Given the description of an element on the screen output the (x, y) to click on. 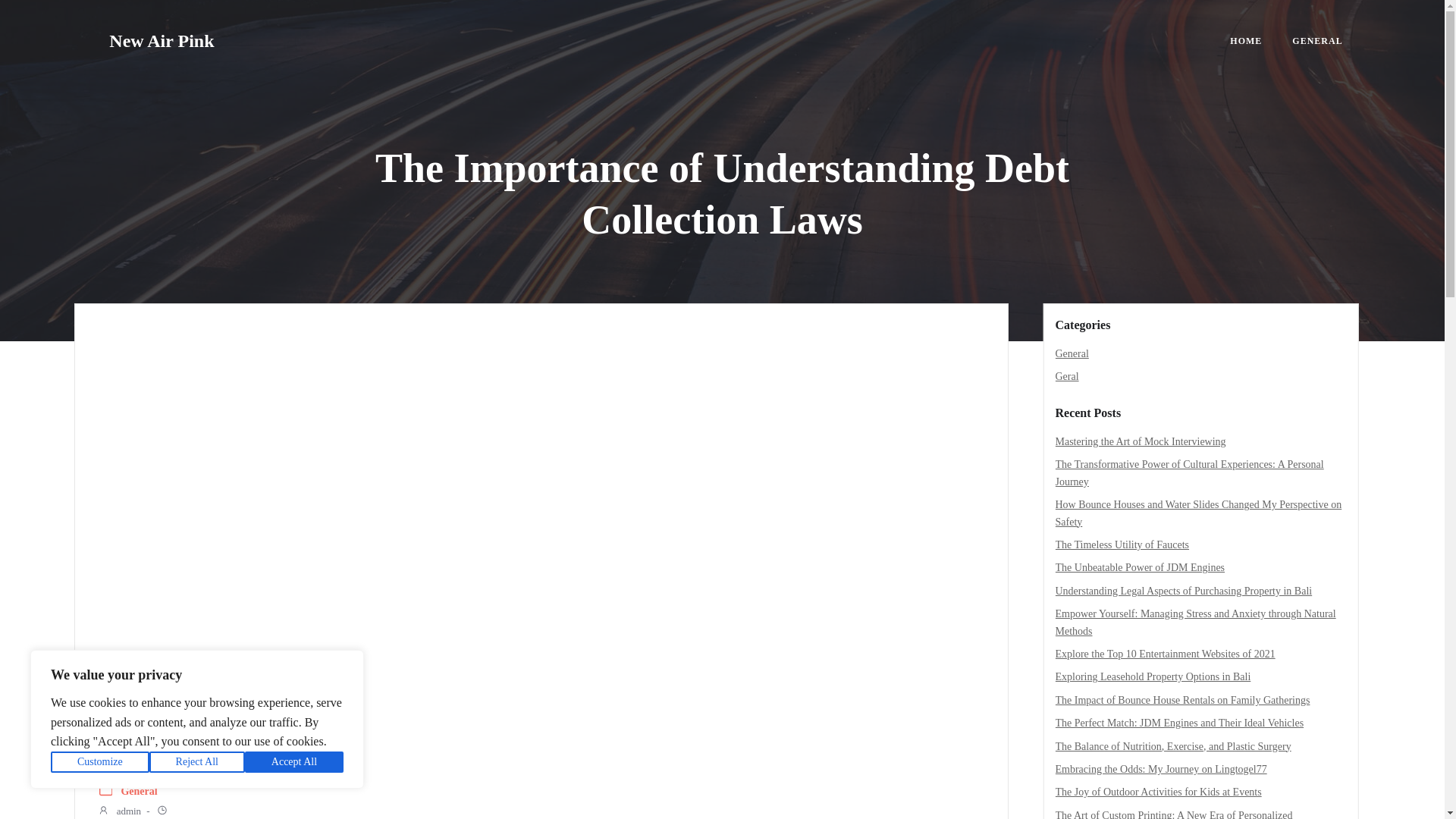
Accept All (293, 762)
HOME (1246, 40)
Reject All (196, 762)
GENERAL (1317, 40)
Mastering the Art of Mock Interviewing (1140, 441)
Customize (99, 762)
Geral (1066, 376)
General (1072, 353)
General (138, 791)
New Air Pink (161, 40)
admin (119, 811)
